Given the description of an element on the screen output the (x, y) to click on. 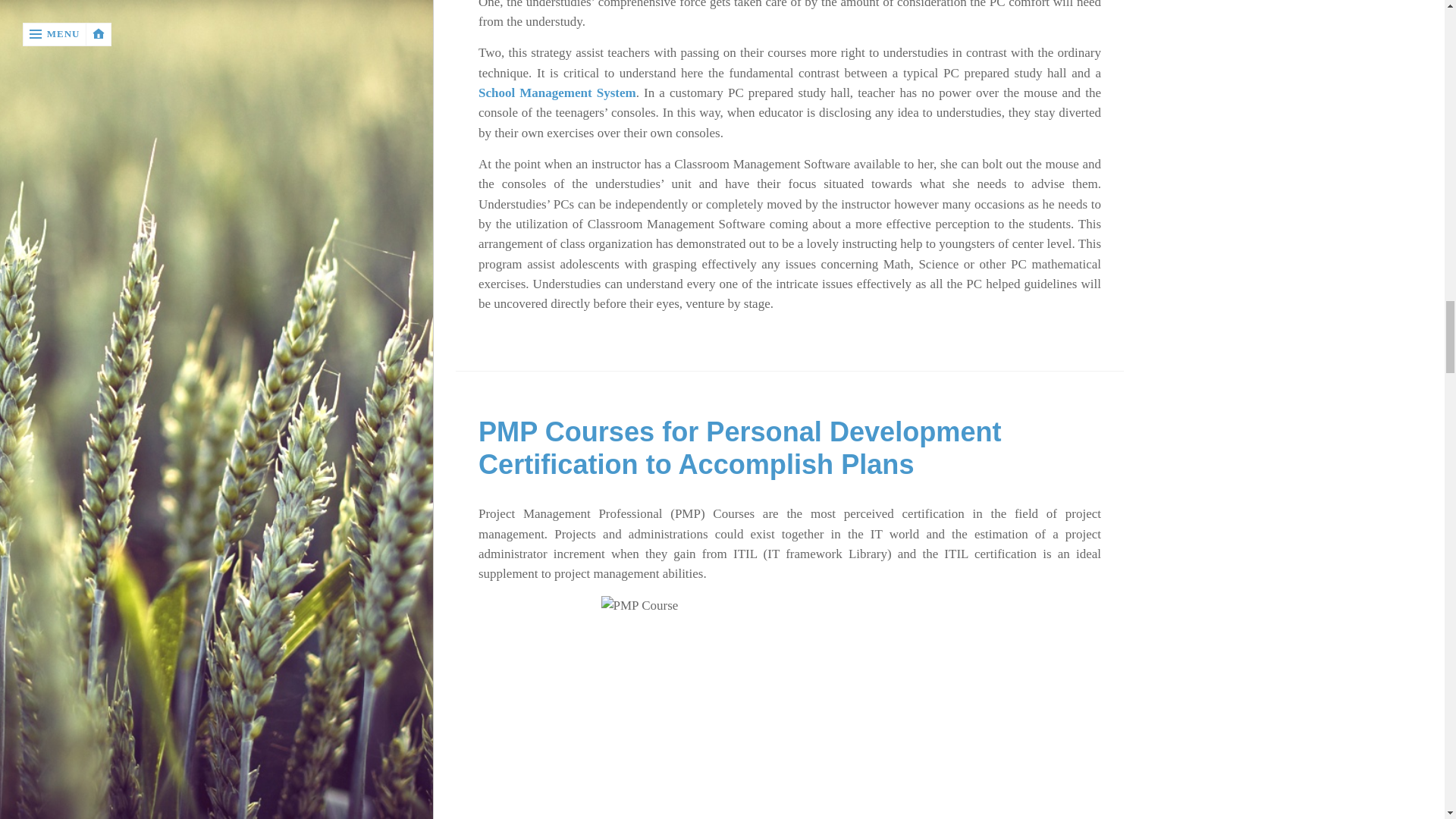
School Management System (557, 92)
